Given the description of an element on the screen output the (x, y) to click on. 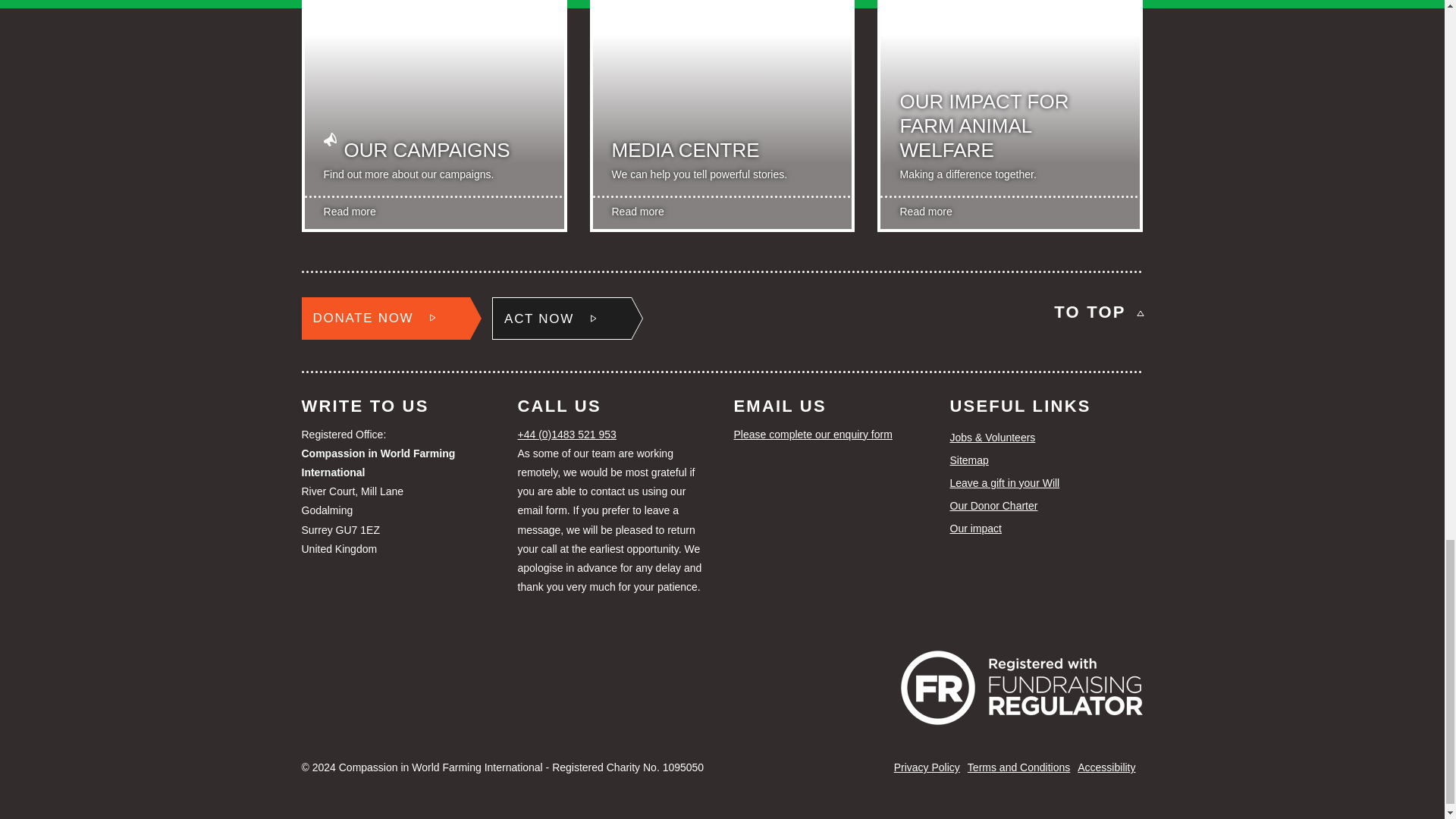
DONATE NOW (385, 318)
TO TOP (1098, 312)
Leave a gift in your Will (1045, 483)
Please complete our enquiry form (830, 434)
TO TOP (1098, 312)
Sitemap (1045, 460)
Our impact (433, 127)
